Given the description of an element on the screen output the (x, y) to click on. 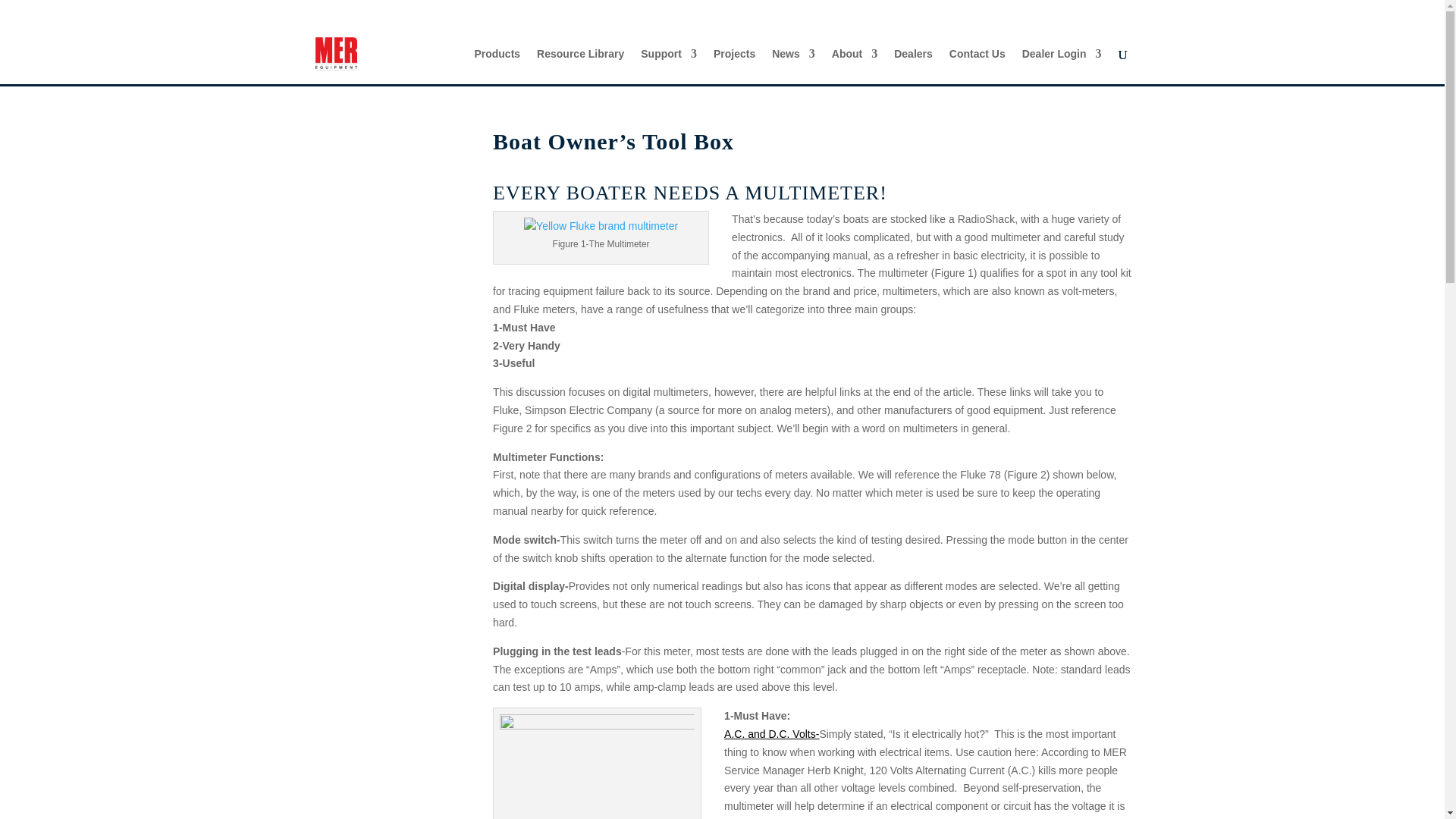
News (793, 66)
Resource Library (580, 66)
Support (668, 66)
BOLLARD Dealers (913, 66)
Dealer Login (1062, 66)
Dealers (913, 66)
Projects (734, 66)
Projects (734, 66)
Contact MER Equipment (977, 66)
About (854, 66)
